Given the description of an element on the screen output the (x, y) to click on. 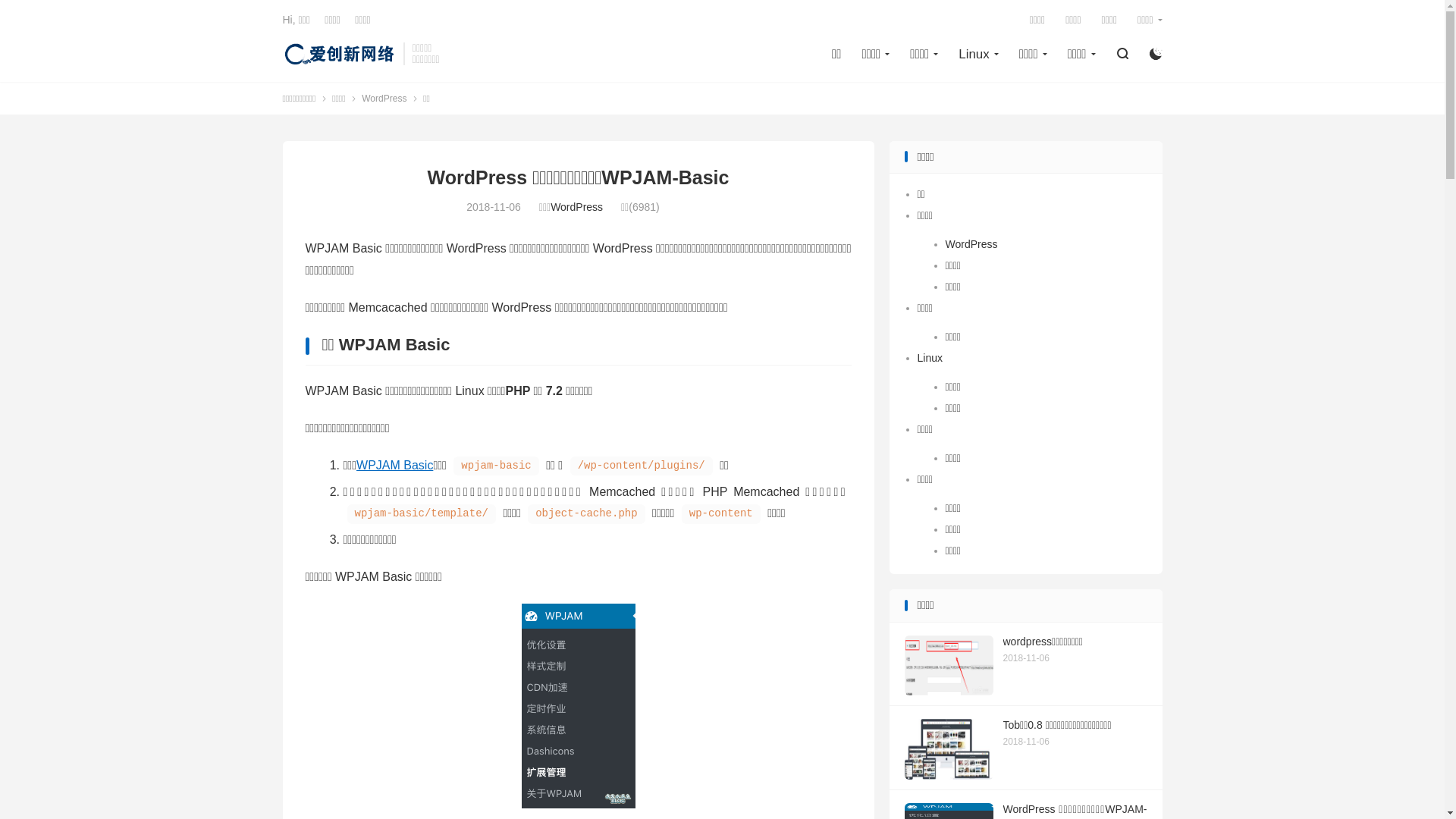
Linux Element type: text (929, 357)
WordPress Element type: text (576, 206)
WPJAM Basic Element type: text (394, 464)
WordPress Element type: text (970, 244)
WordPress Element type: text (383, 97)
Linux Element type: text (978, 54)
